Given the description of an element on the screen output the (x, y) to click on. 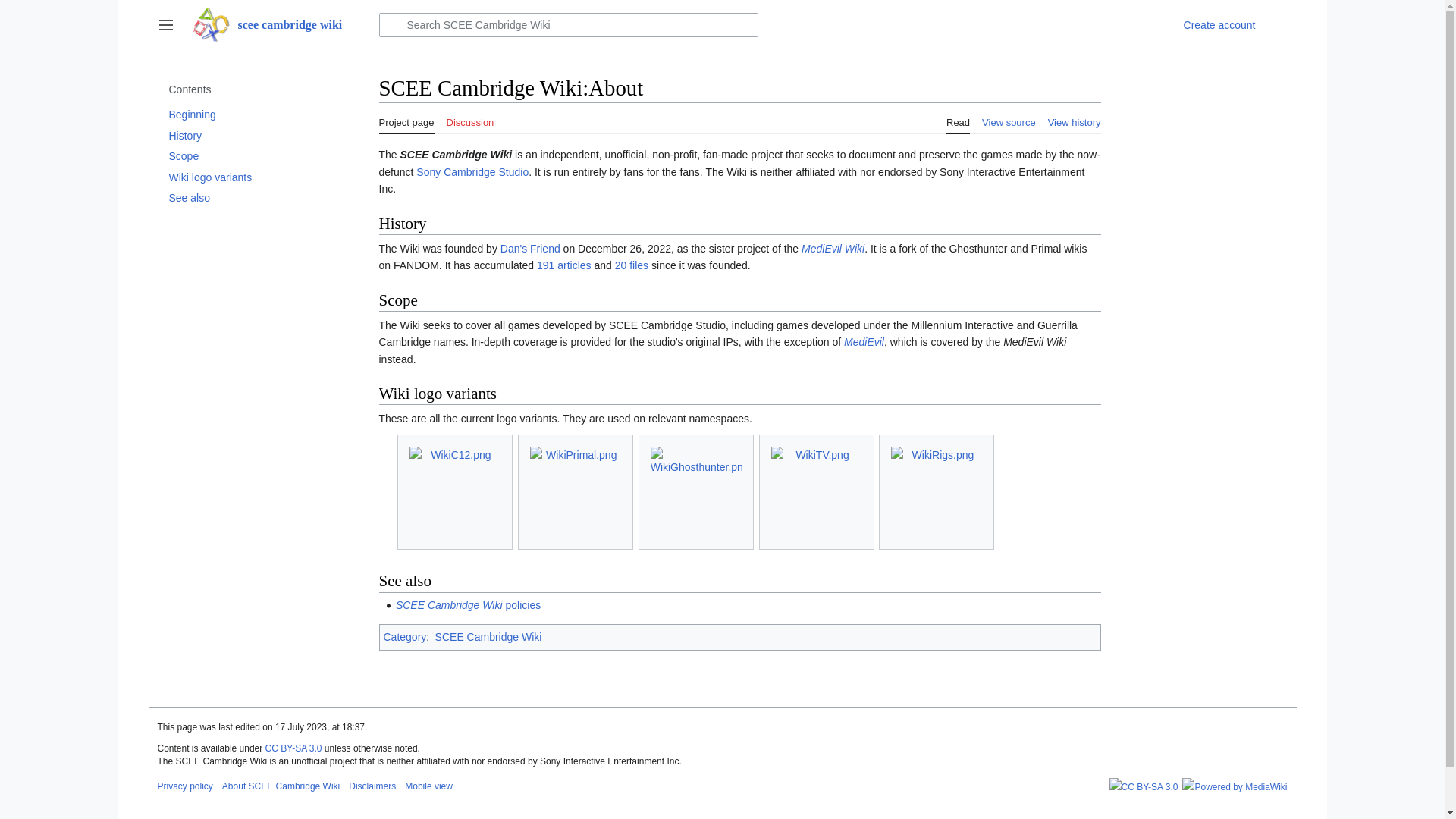
Scope (245, 156)
Beginning (245, 114)
More options (1279, 24)
Search (392, 24)
Discussion (469, 118)
Search the pages for this text (392, 24)
See also (245, 198)
scee cambridge wiki (276, 24)
Go (392, 24)
